Given the description of an element on the screen output the (x, y) to click on. 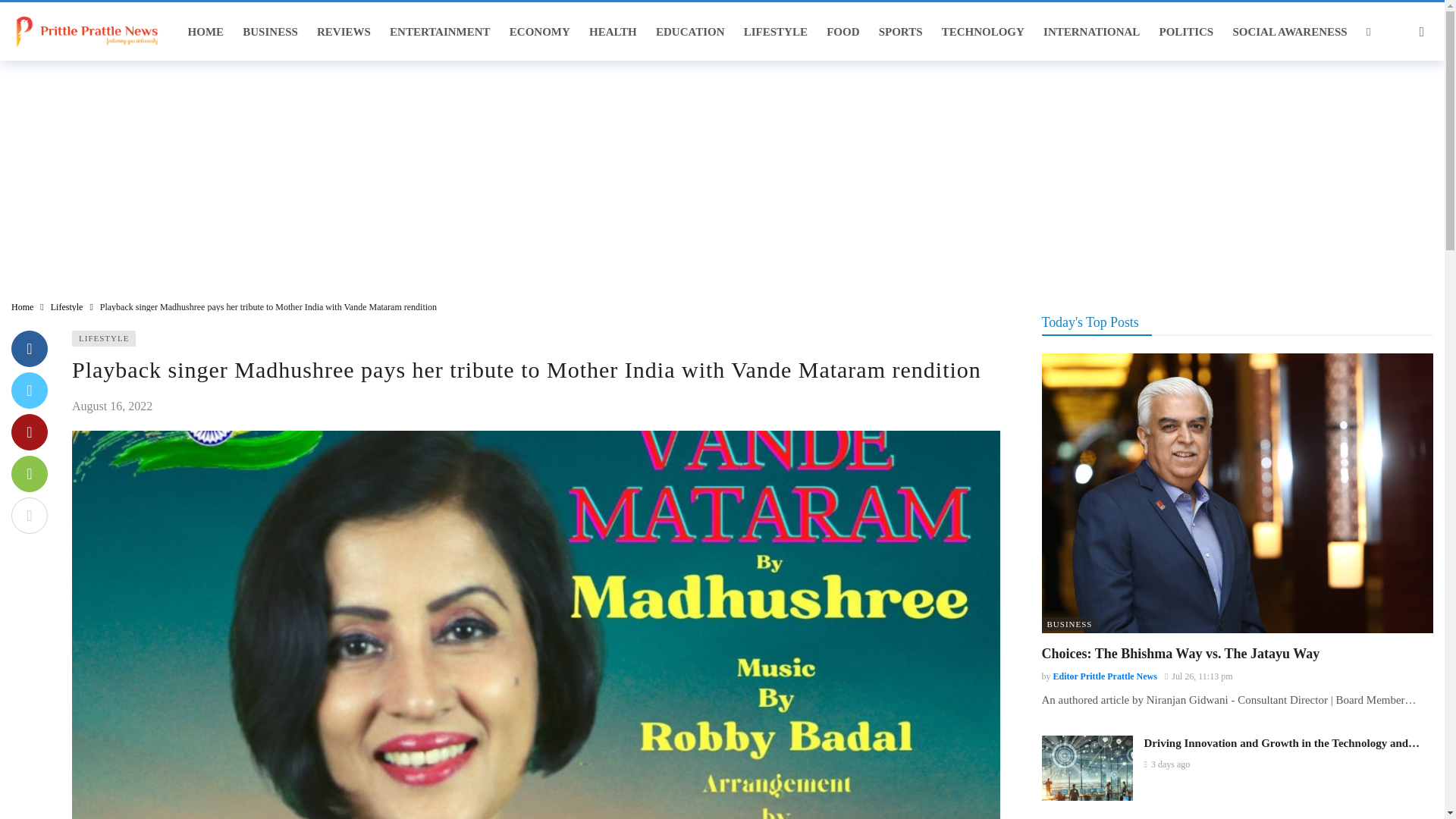
HEALTH (612, 31)
EDUCATION (689, 31)
Choices: The Bhishma Way vs. The Jatayu Way (1238, 492)
BUSINESS (270, 31)
POLITICS (1186, 31)
ENTERTAINMENT (439, 31)
INTERNATIONAL (1091, 31)
ECONOMY (539, 31)
SPORTS (900, 31)
SOCIAL AWARENESS (1289, 31)
REVIEWS (343, 31)
LIFESTYLE (775, 31)
TECHNOLOGY (982, 31)
